Given the description of an element on the screen output the (x, y) to click on. 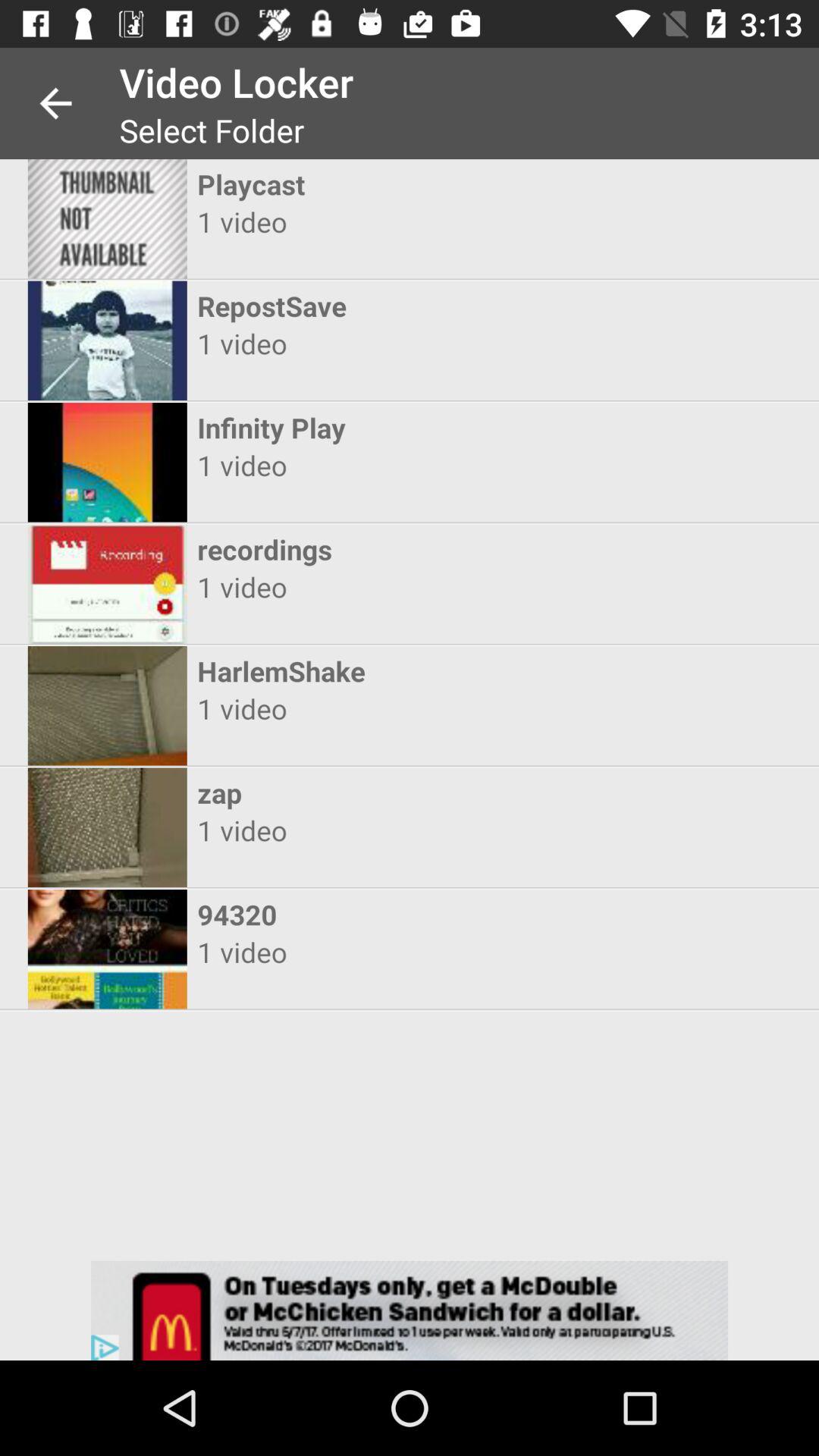
press infinity play (396, 427)
